Given the description of an element on the screen output the (x, y) to click on. 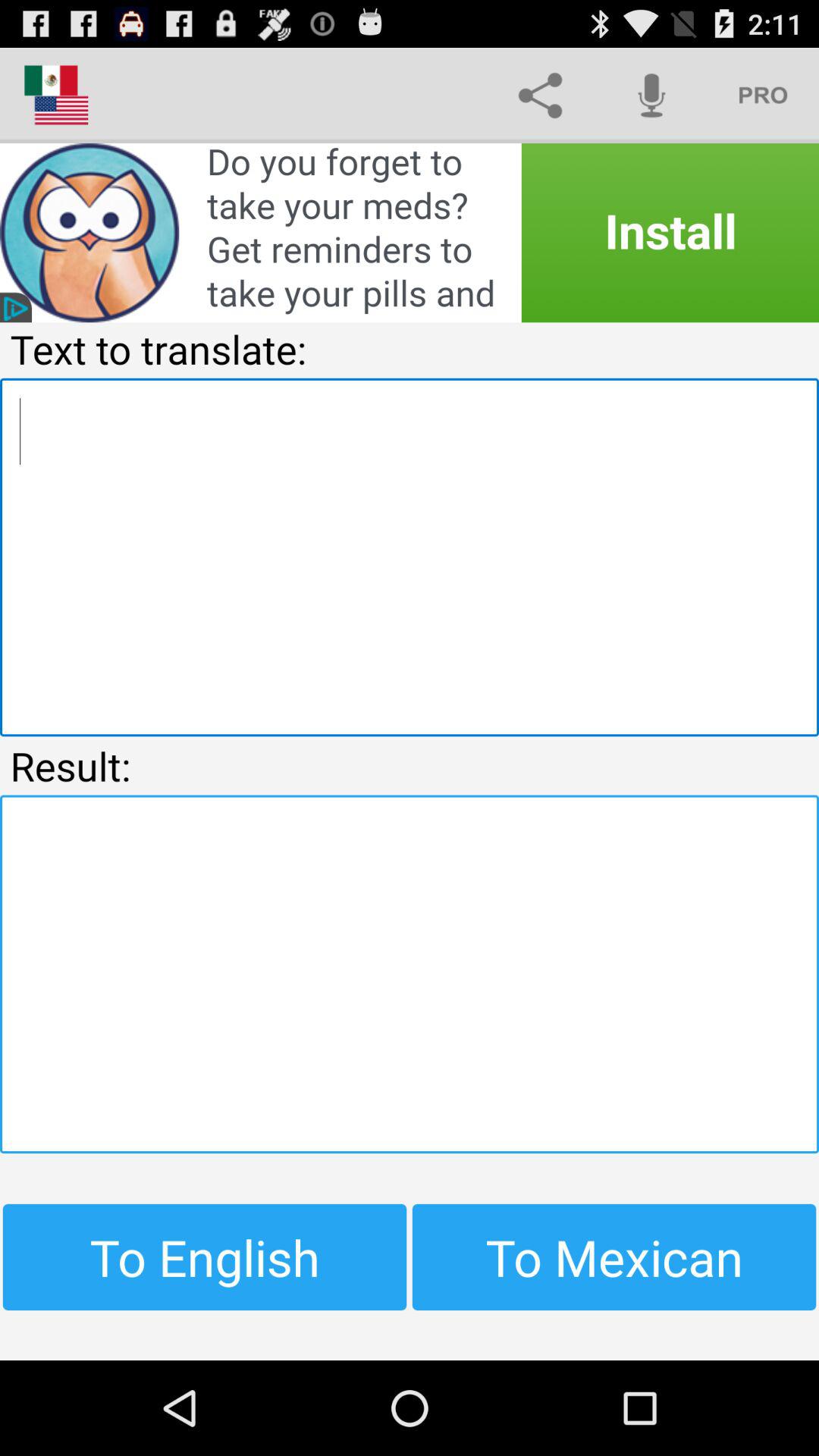
open the input option (409, 557)
